Given the description of an element on the screen output the (x, y) to click on. 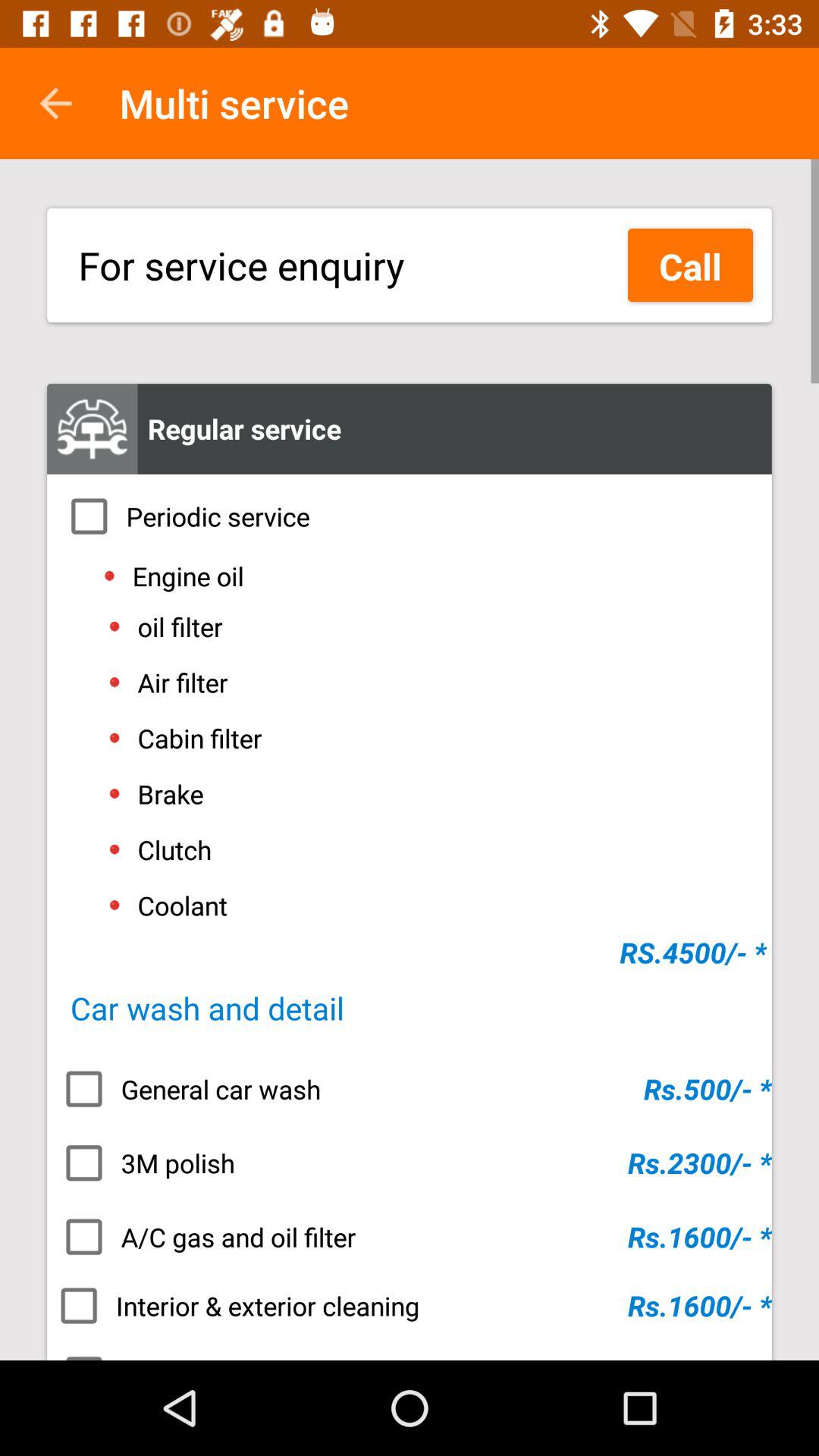
turn on item to the left of the multi service item (55, 103)
